Given the description of an element on the screen output the (x, y) to click on. 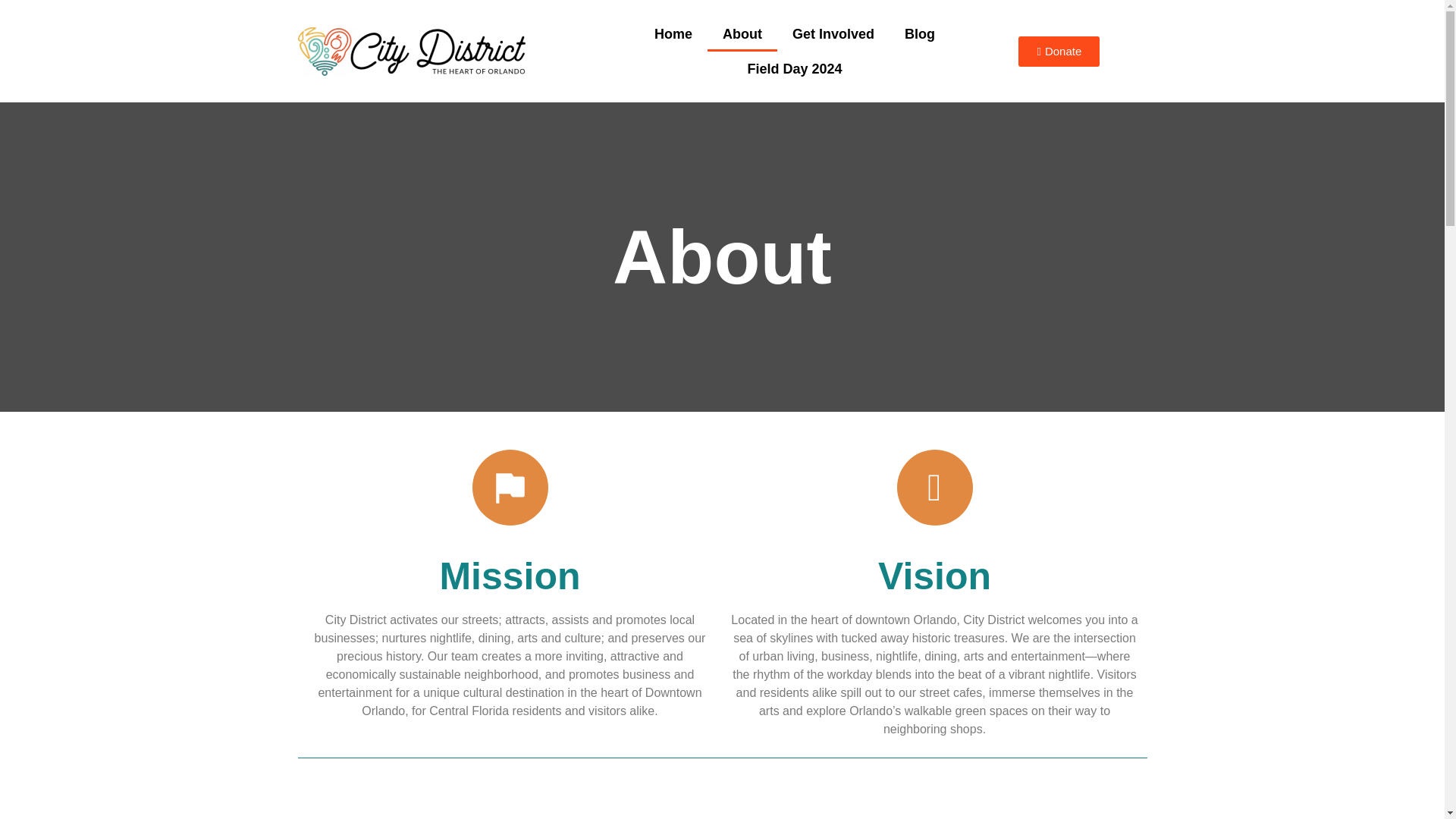
Get Involved (833, 33)
Blog (919, 33)
Donate (1058, 51)
About (742, 33)
Home (673, 33)
Field Day 2024 (794, 68)
